Given the description of an element on the screen output the (x, y) to click on. 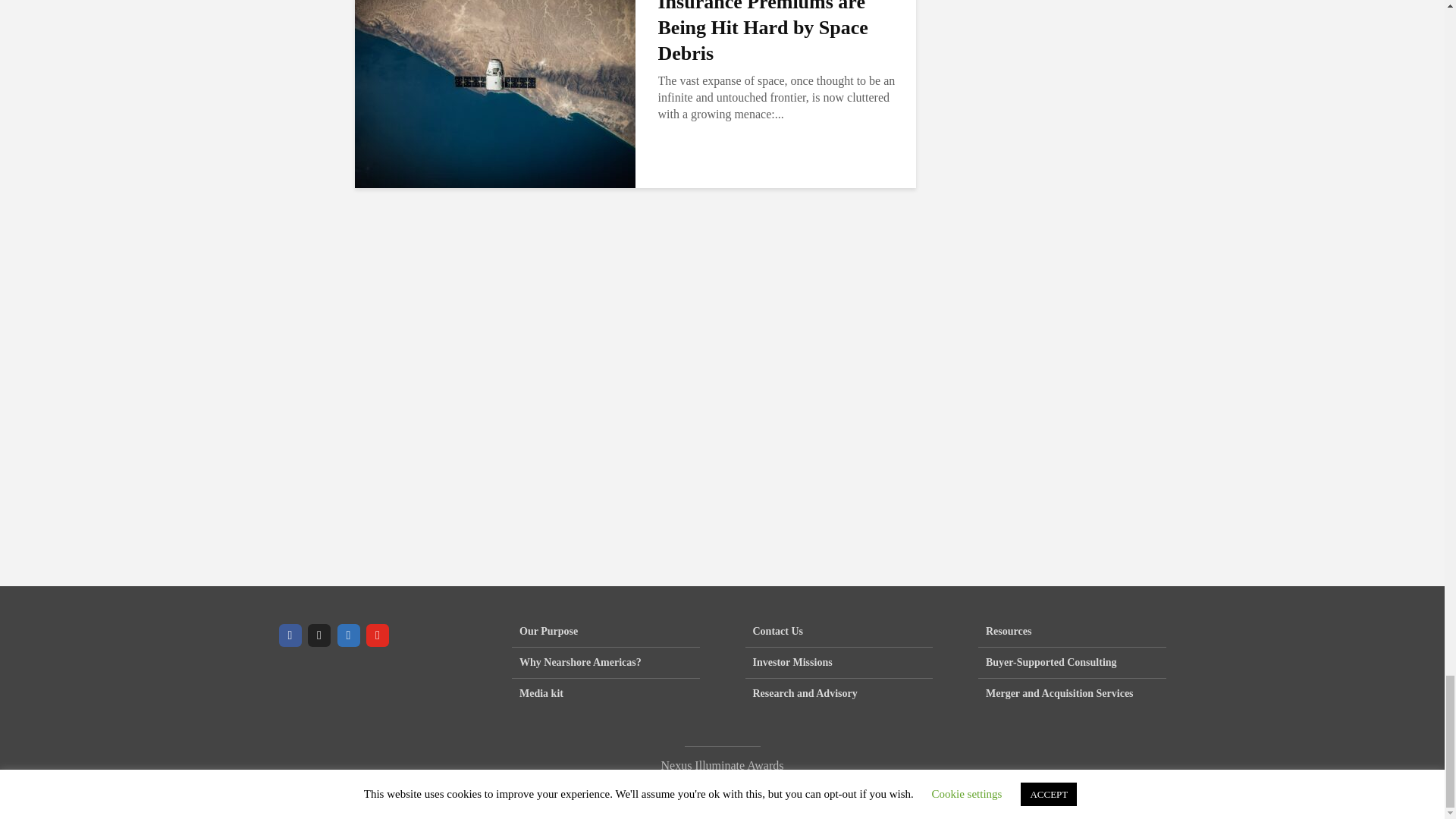
YouTube (377, 635)
Insurance Premiums are Being Hit Hard by Space Debris (494, 72)
Facebook (290, 635)
Linkedin (347, 635)
